Given the description of an element on the screen output the (x, y) to click on. 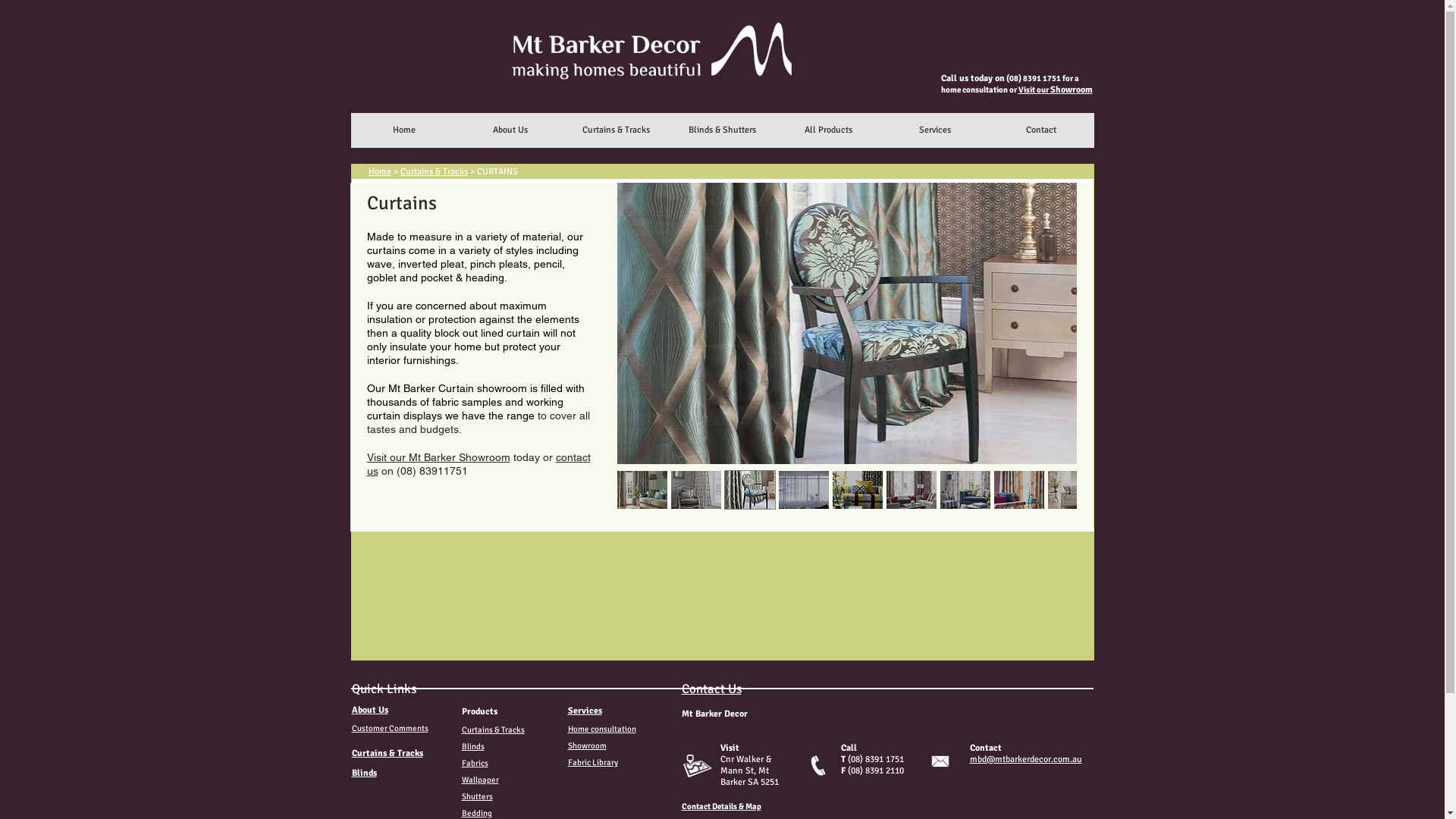
Fabric Library Element type: text (592, 762)
Contact Details & Map Element type: text (720, 806)
Services Element type: text (584, 710)
Showroom Element type: text (586, 745)
contact us Element type: text (478, 463)
Curtains & Tracks Element type: text (615, 130)
Blinds Element type: text (472, 746)
Curtains & Tracks Element type: text (387, 753)
Bedding Element type: text (476, 813)
Fabrics Element type: text (474, 763)
About Us Element type: text (369, 709)
Customer Comments Element type: text (389, 728)
Blinds Element type: text (363, 772)
Blinds & Shutters Element type: text (721, 130)
Mt Barker Decor Curtains, Blinds & Interior Decorating Element type: hover (636, 82)
Visit our Mt Barker Showroom Element type: text (438, 457)
Home Element type: text (379, 171)
mbd@mtbarkerdecor.com.au Element type: text (1025, 759)
Curtains & Tracks Element type: text (492, 729)
Contact Element type: text (1040, 130)
Contact Us Element type: text (710, 688)
Visit our Showroom Element type: text (1054, 89)
Home Element type: text (403, 130)
Home consultation Element type: text (601, 729)
Wallpaper Element type: text (479, 779)
About Us Element type: text (509, 130)
Services Element type: text (934, 130)
Shutters Element type: text (476, 796)
Curtains & Tracks Element type: text (433, 171)
All Products Element type: text (828, 130)
